Given the description of an element on the screen output the (x, y) to click on. 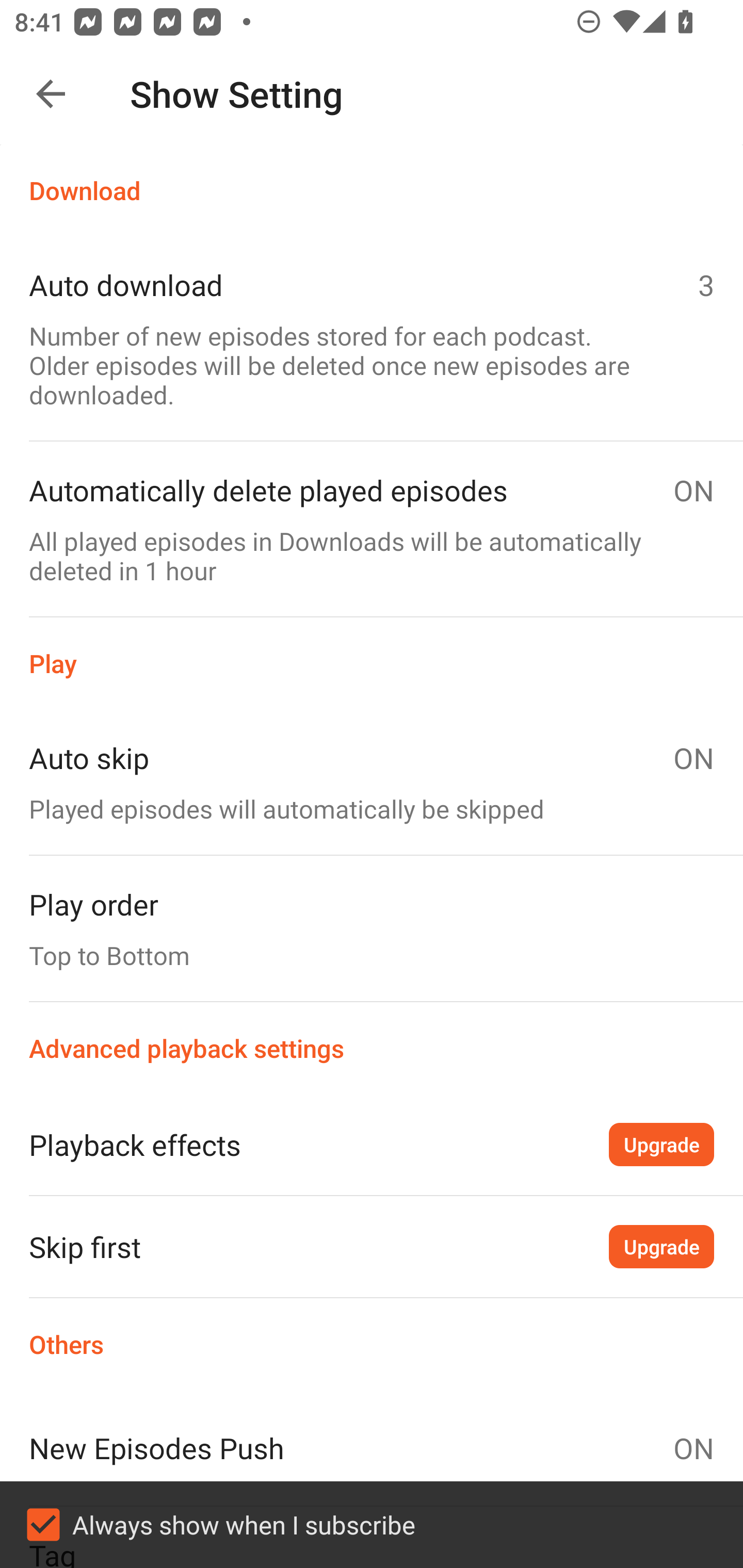
Navigate up (50, 93)
Play order Top to Bottom (371, 928)
Playback effects Upgrade (371, 1144)
Skip first Upgrade (371, 1246)
New Episodes Push ON (371, 1447)
Always show when I subscribe (371, 1524)
